Given the description of an element on the screen output the (x, y) to click on. 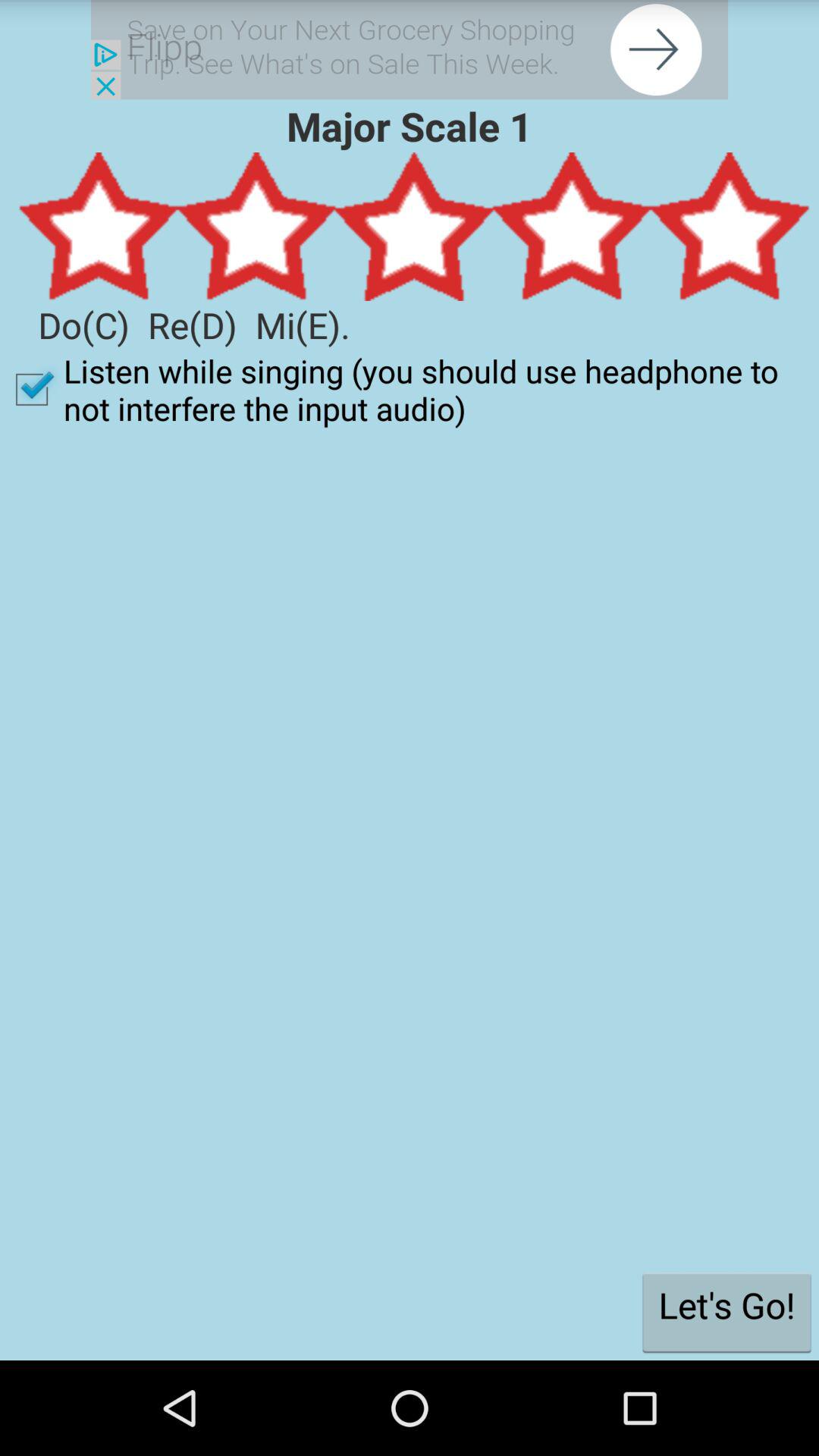
share article (409, 49)
